Given the description of an element on the screen output the (x, y) to click on. 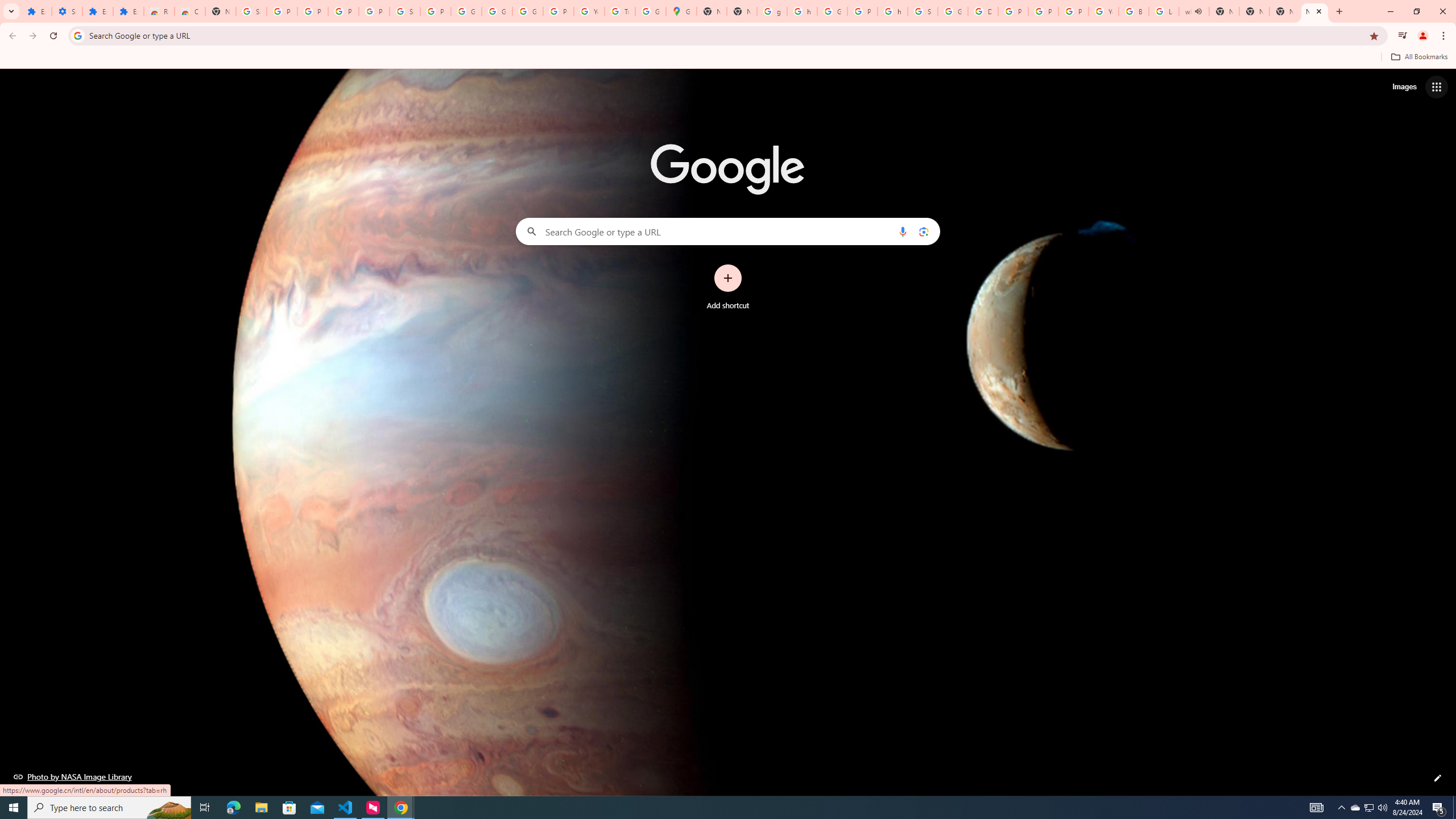
Chrome Web Store - Themes (189, 11)
YouTube (1103, 11)
New Tab (1283, 11)
Google Account (496, 11)
Google Account (465, 11)
Bookmarks (728, 58)
